Given the description of an element on the screen output the (x, y) to click on. 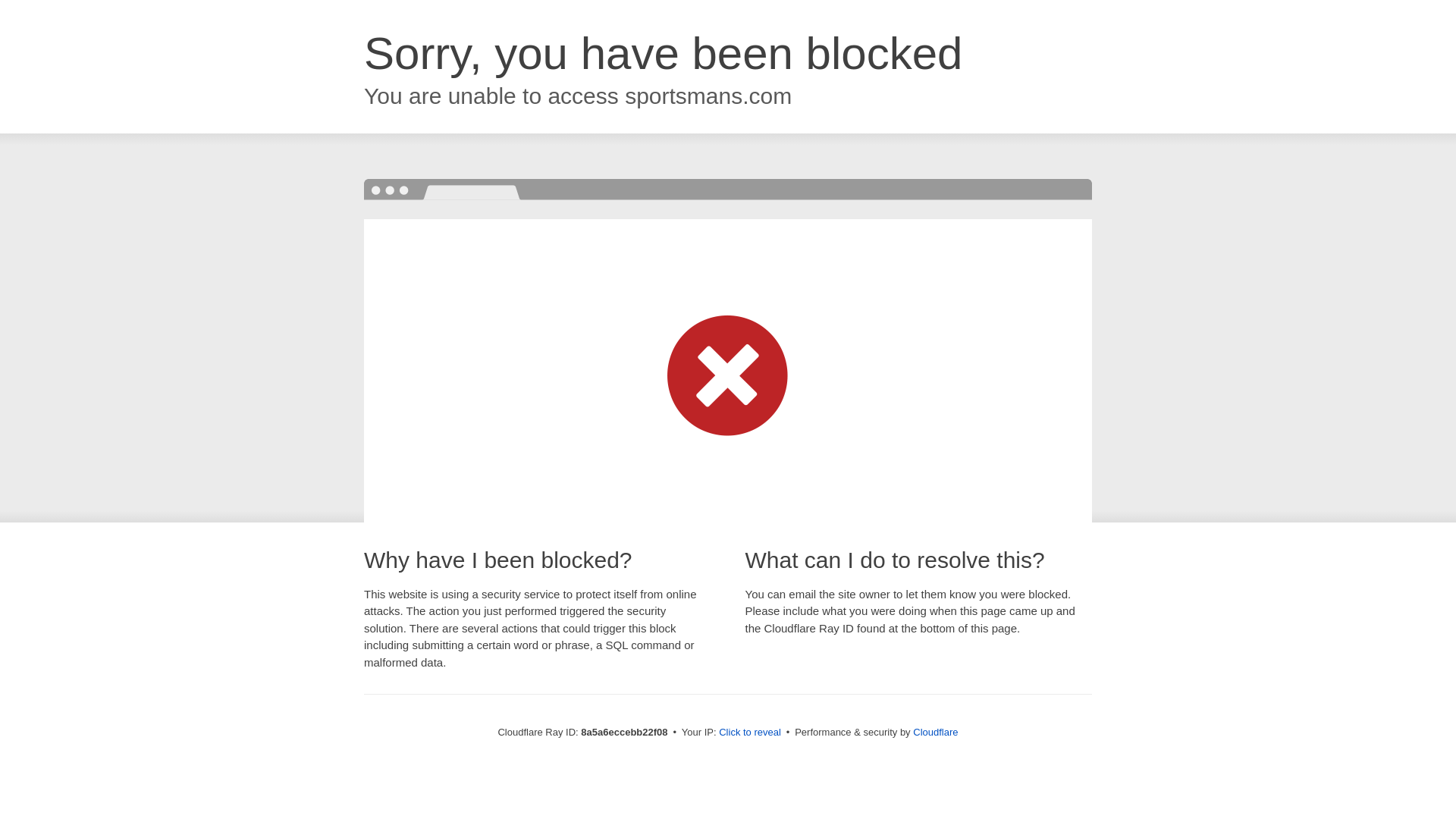
Click to reveal (749, 732)
Cloudflare (935, 731)
